Given the description of an element on the screen output the (x, y) to click on. 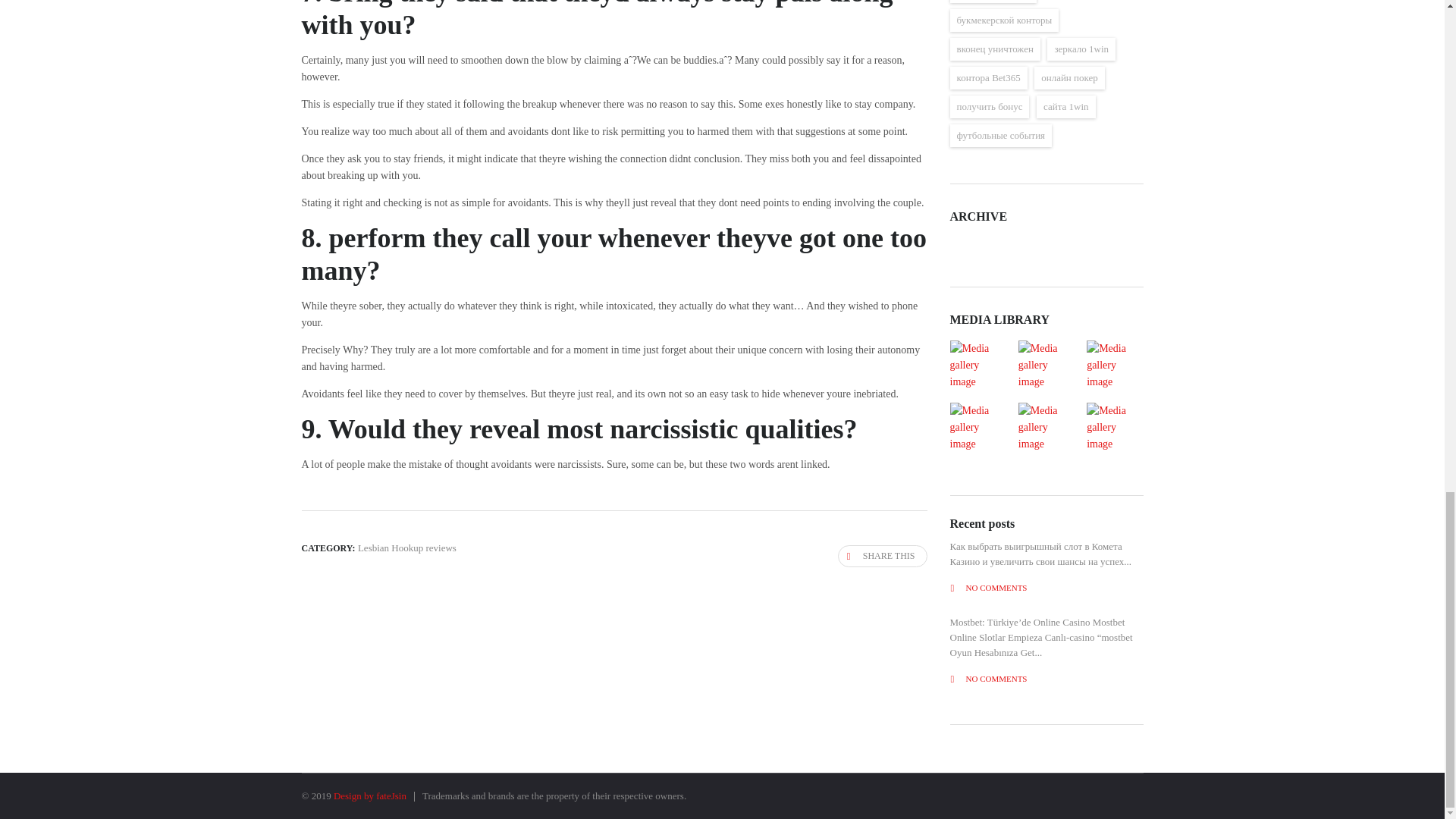
Watch in popup (977, 427)
Watch in popup (1114, 365)
Watch in popup (1045, 365)
Watch in popup (1114, 427)
Watch in popup (1045, 427)
Watch in popup (977, 365)
SHARE THIS (882, 556)
Share this (882, 556)
Lesbian Hookup reviews (407, 547)
